Given the description of an element on the screen output the (x, y) to click on. 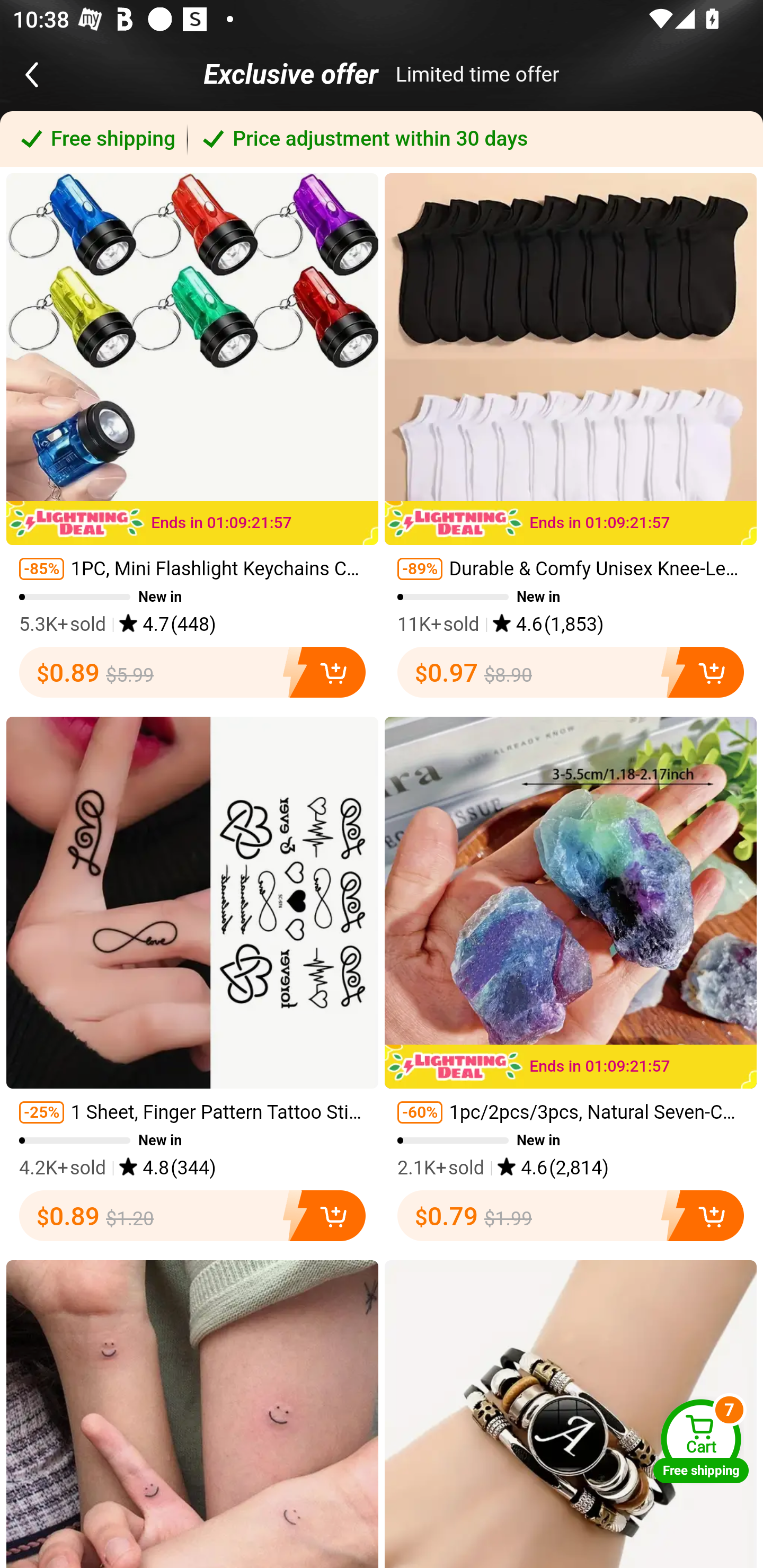
Free shipping (94, 138)
Price adjustment within 30 days (475, 138)
$0.89 $5.99 (192, 671)
$0.97 $8.90 (570, 671)
$0.89 $1.20 (192, 1215)
$0.79 $1.99 (570, 1215)
Cart Free shipping Cart (701, 1440)
